Given the description of an element on the screen output the (x, y) to click on. 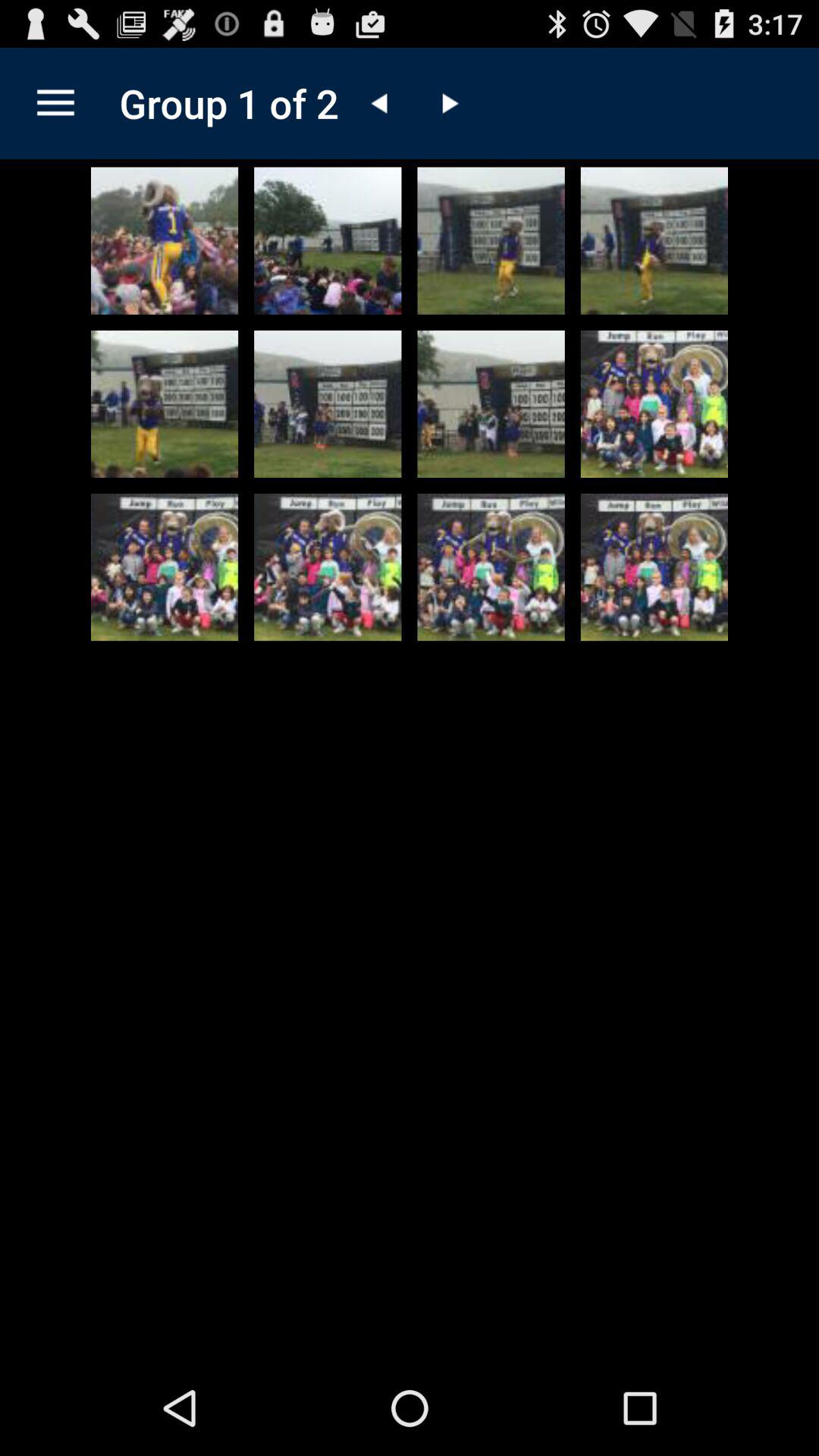
turn on the item to the left of group 1 of (55, 103)
